Given the description of an element on the screen output the (x, y) to click on. 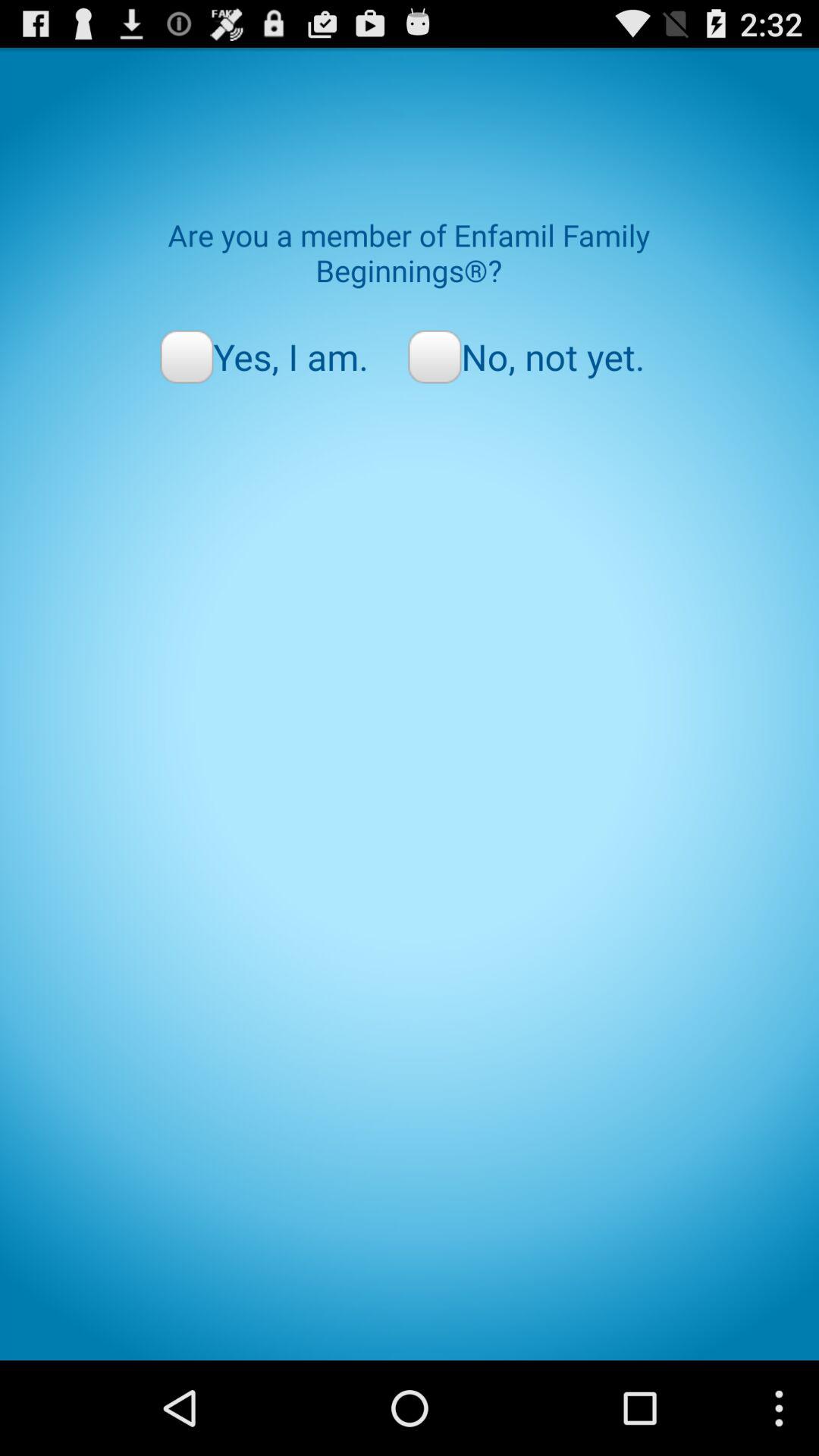
swipe until yes, i am. item (264, 356)
